Given the description of an element on the screen output the (x, y) to click on. 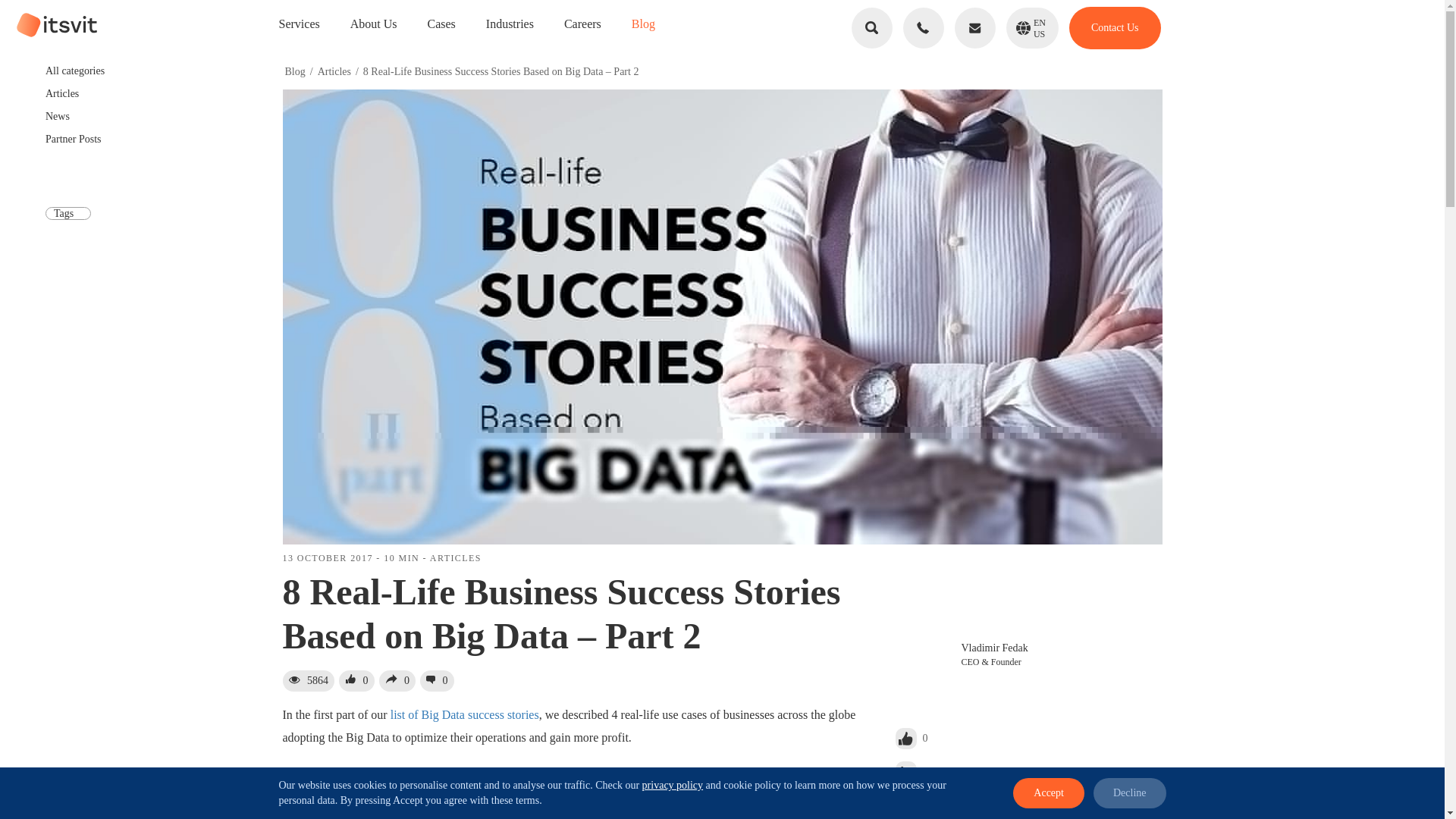
Views (308, 680)
Like (1028, 738)
Services (299, 23)
Shares (397, 680)
Likes (1031, 27)
Linkedin (356, 680)
Comments (1028, 771)
Twitter (437, 680)
